Given the description of an element on the screen output the (x, y) to click on. 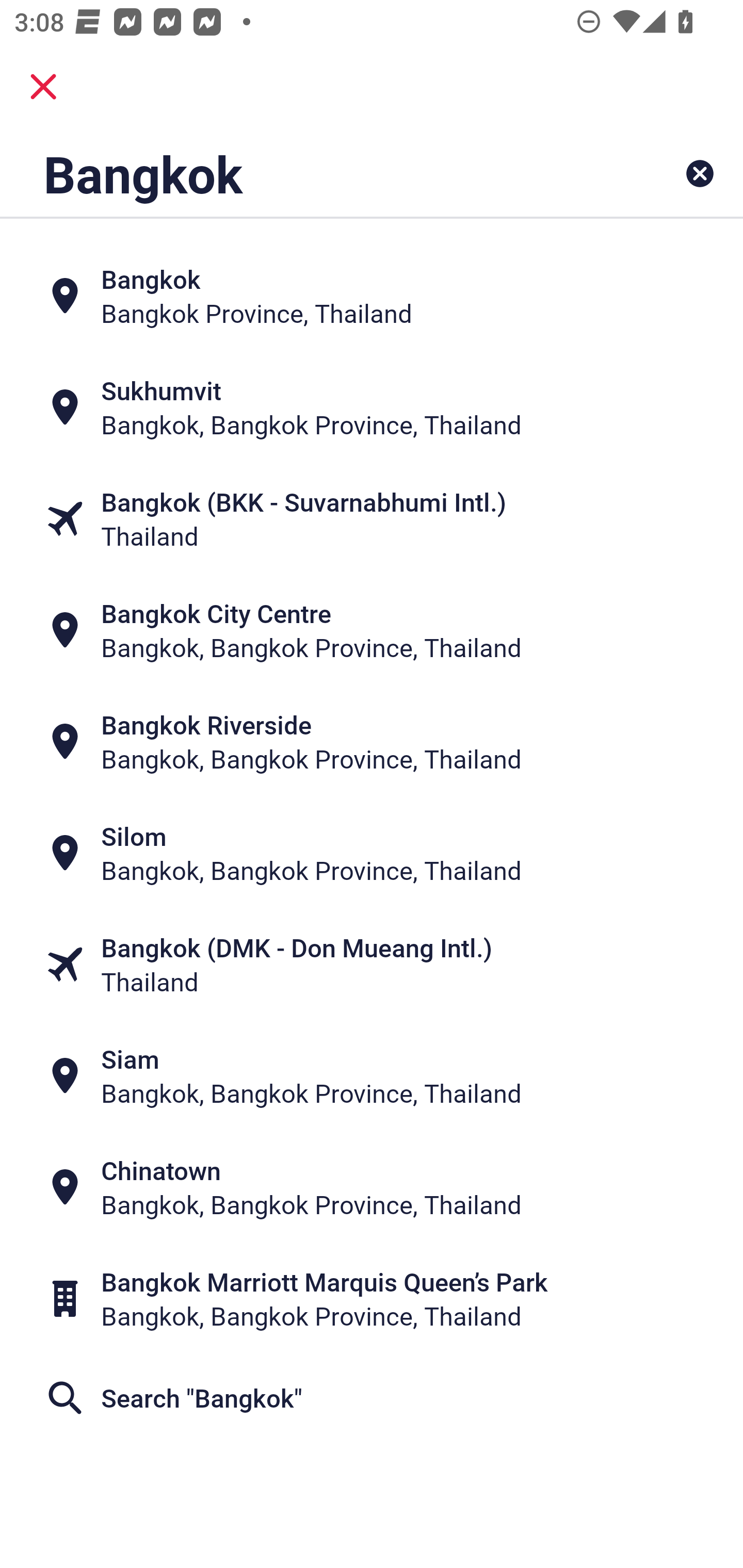
close. (43, 86)
Clear (699, 173)
Bangkok (306, 173)
Bangkok Bangkok Province, Thailand (371, 295)
Sukhumvit Bangkok, Bangkok Province, Thailand (371, 406)
Bangkok (BKK - Suvarnabhumi Intl.) Thailand (371, 517)
Silom Bangkok, Bangkok Province, Thailand (371, 853)
Bangkok (DMK - Don Mueang Intl.) Thailand (371, 964)
Siam Bangkok, Bangkok Province, Thailand (371, 1076)
Chinatown Bangkok, Bangkok Province, Thailand (371, 1187)
Search "Bangkok" (371, 1397)
